Given the description of an element on the screen output the (x, y) to click on. 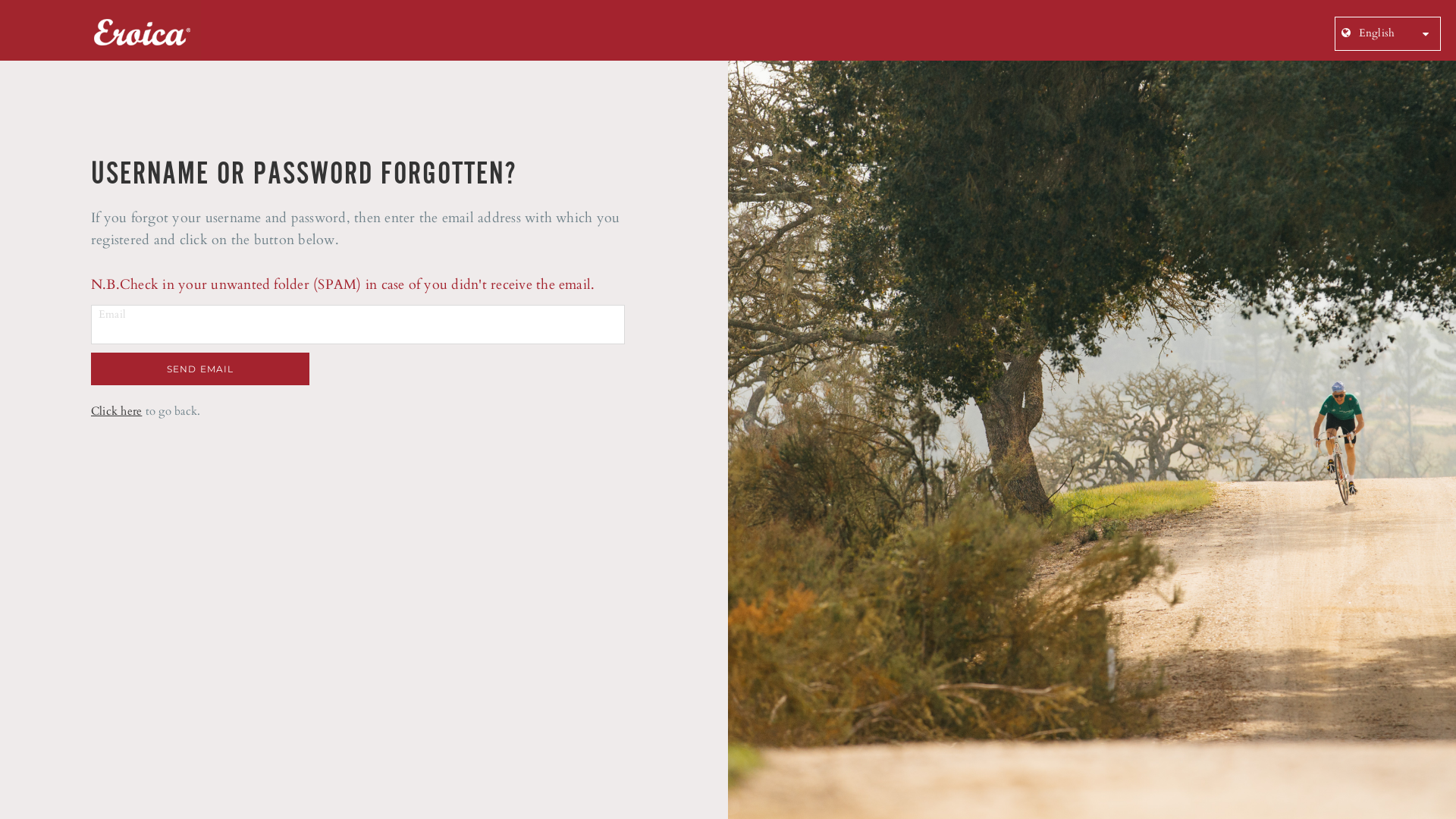
SEND EMAIL Element type: text (200, 368)
Click here Element type: text (116, 410)
  English Element type: text (1364, 32)
